Given the description of an element on the screen output the (x, y) to click on. 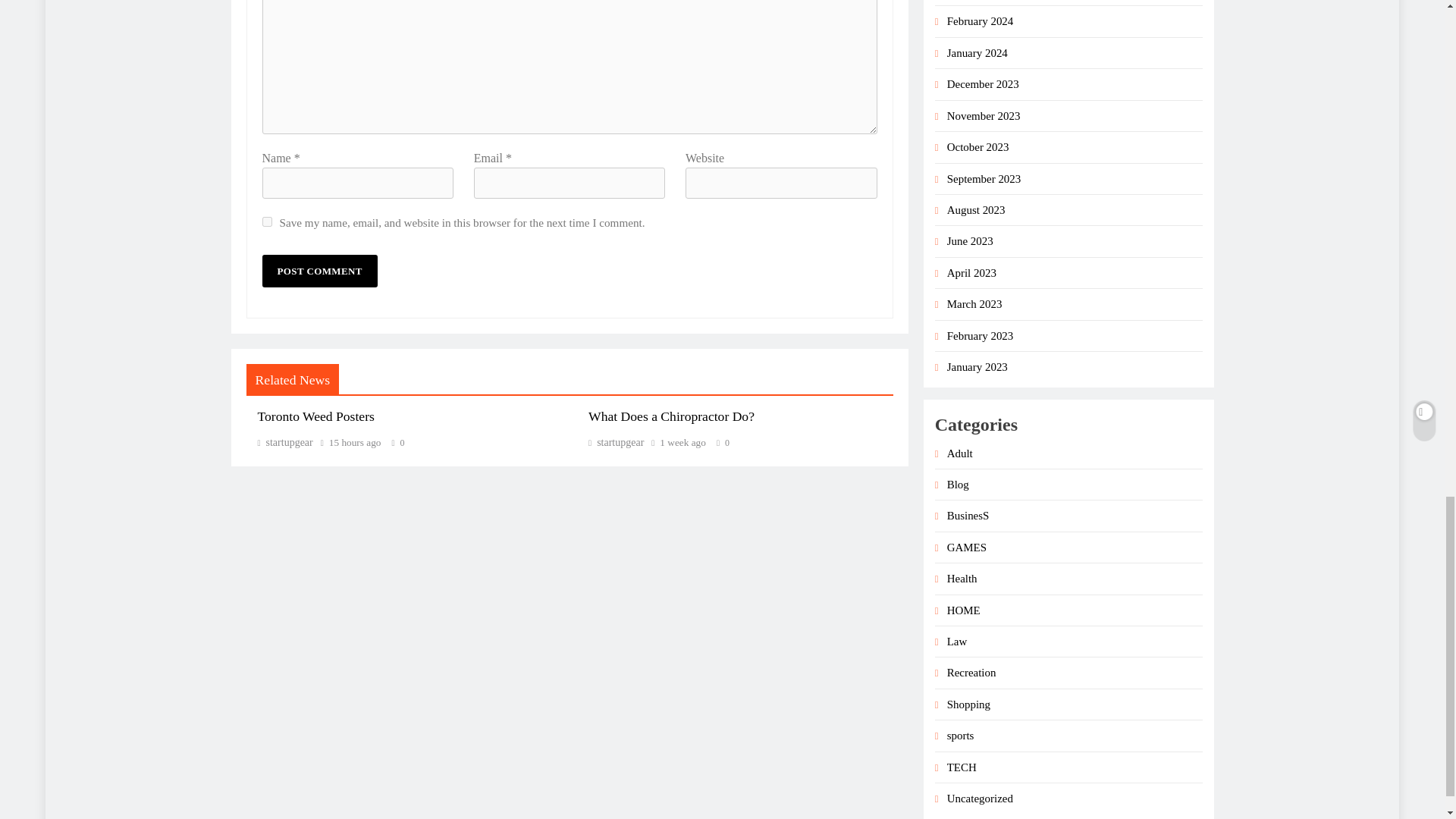
yes (267, 221)
startupgear (285, 441)
Post Comment (319, 270)
15 hours ago (355, 442)
startupgear (615, 441)
1 week ago (682, 442)
What Does a Chiropractor Do? (671, 416)
Toronto Weed Posters (315, 416)
Post Comment (319, 270)
